Given the description of an element on the screen output the (x, y) to click on. 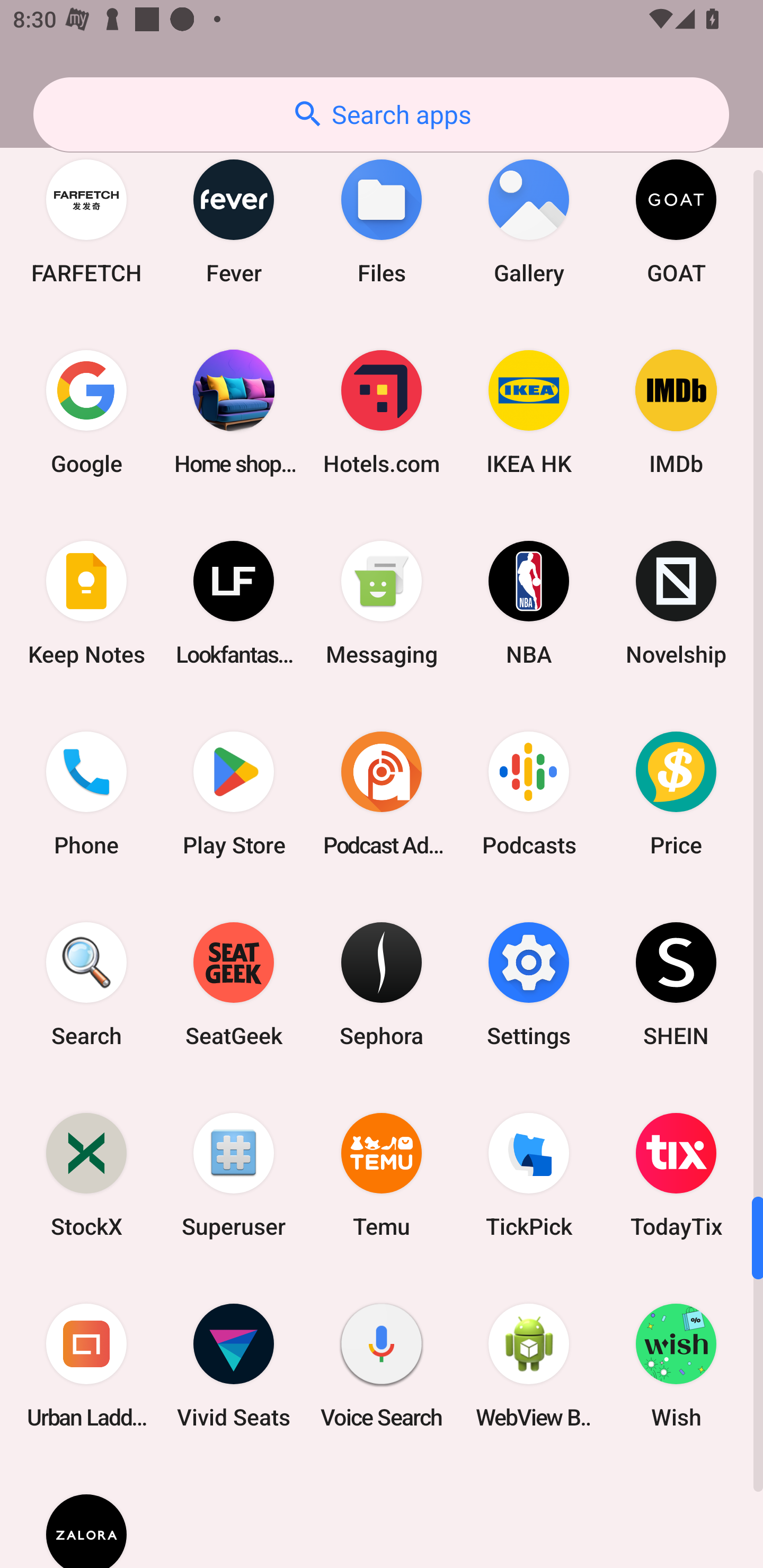
  Search apps (381, 114)
FARFETCH (86, 220)
Fever (233, 220)
Files (381, 220)
Gallery (528, 220)
GOAT (676, 220)
Google (86, 412)
Home shopping (233, 412)
Hotels.com (381, 412)
IKEA HK (528, 412)
IMDb (676, 412)
Keep Notes (86, 602)
Lookfantastic (233, 602)
Messaging (381, 602)
NBA (528, 602)
Novelship (676, 602)
Phone (86, 793)
Play Store (233, 793)
Podcast Addict (381, 793)
Podcasts (528, 793)
Price (676, 793)
Search (86, 984)
SeatGeek (233, 984)
Sephora (381, 984)
Settings (528, 984)
SHEIN (676, 984)
StockX (86, 1175)
Superuser (233, 1175)
Temu (381, 1175)
TickPick (528, 1175)
TodayTix (676, 1175)
Urban Ladder (86, 1365)
Vivid Seats (233, 1365)
Voice Search (381, 1365)
WebView Browser Tester (528, 1365)
Wish (676, 1365)
ZALORA (86, 1514)
